Given the description of an element on the screen output the (x, y) to click on. 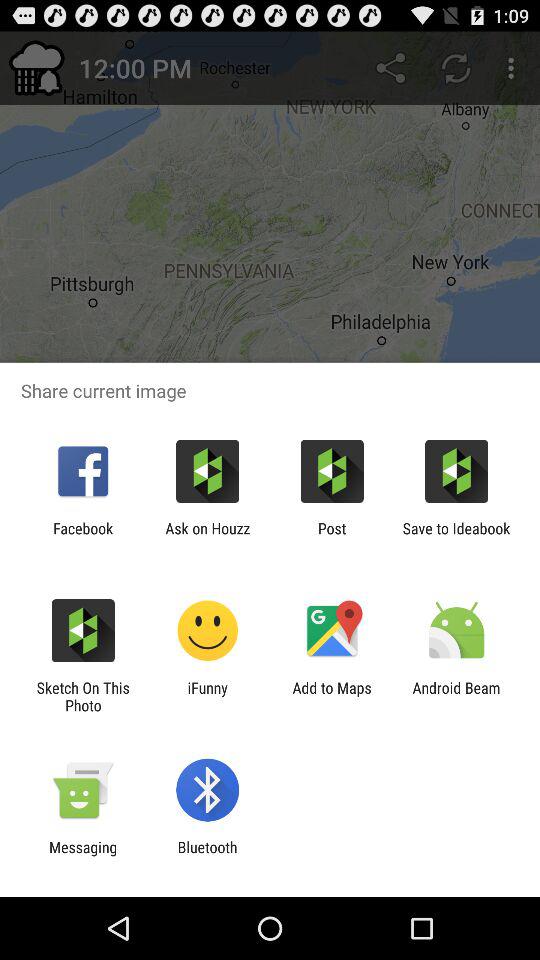
turn off save to ideabook item (456, 537)
